Given the description of an element on the screen output the (x, y) to click on. 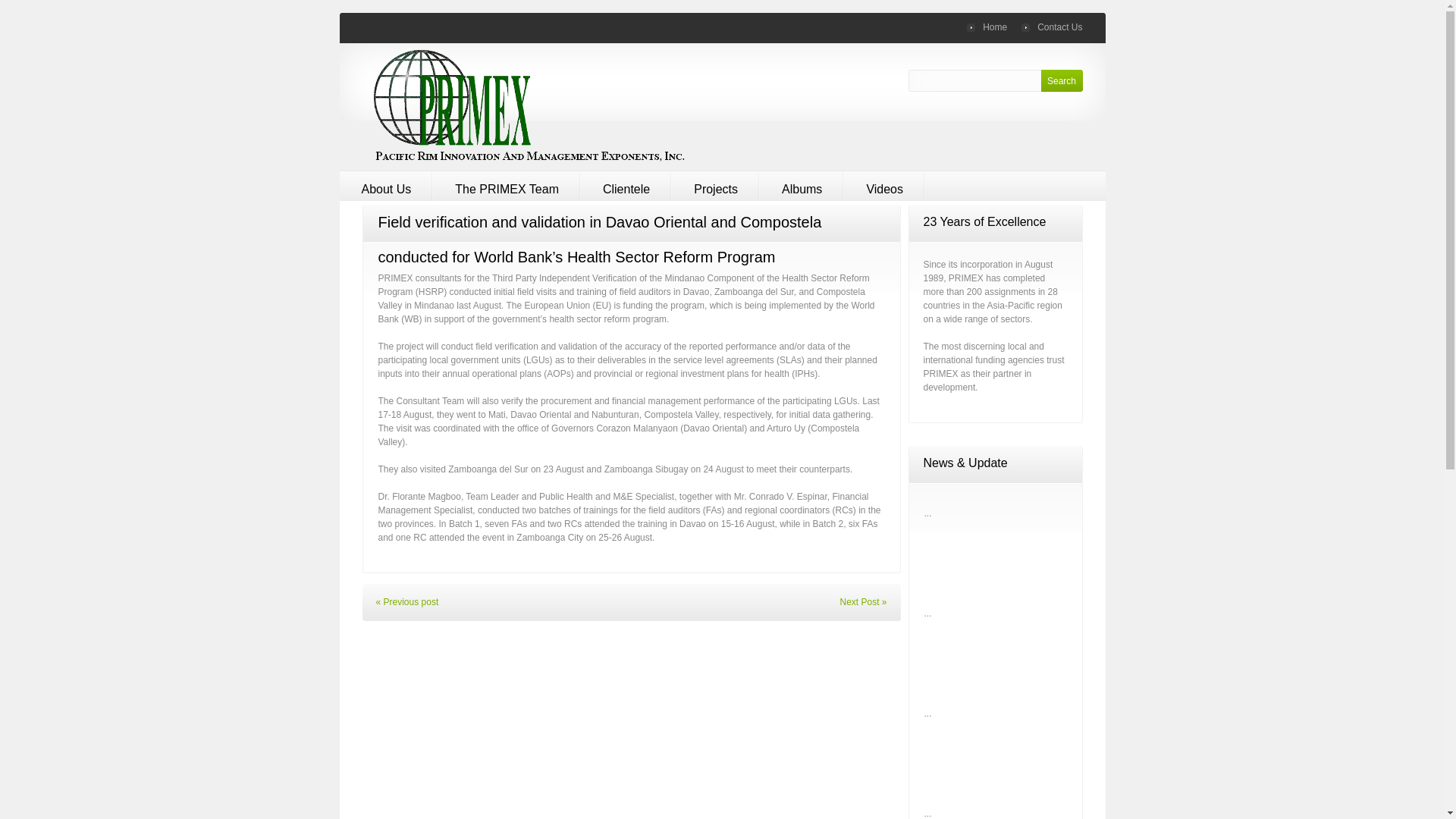
Search (1061, 80)
The PRIMEX Team (506, 185)
Home (986, 27)
Contact Us (1051, 27)
Search (1061, 80)
Videos (884, 185)
Projects (715, 185)
Clientele (625, 185)
About Us (386, 185)
Albums (802, 185)
